Given the description of an element on the screen output the (x, y) to click on. 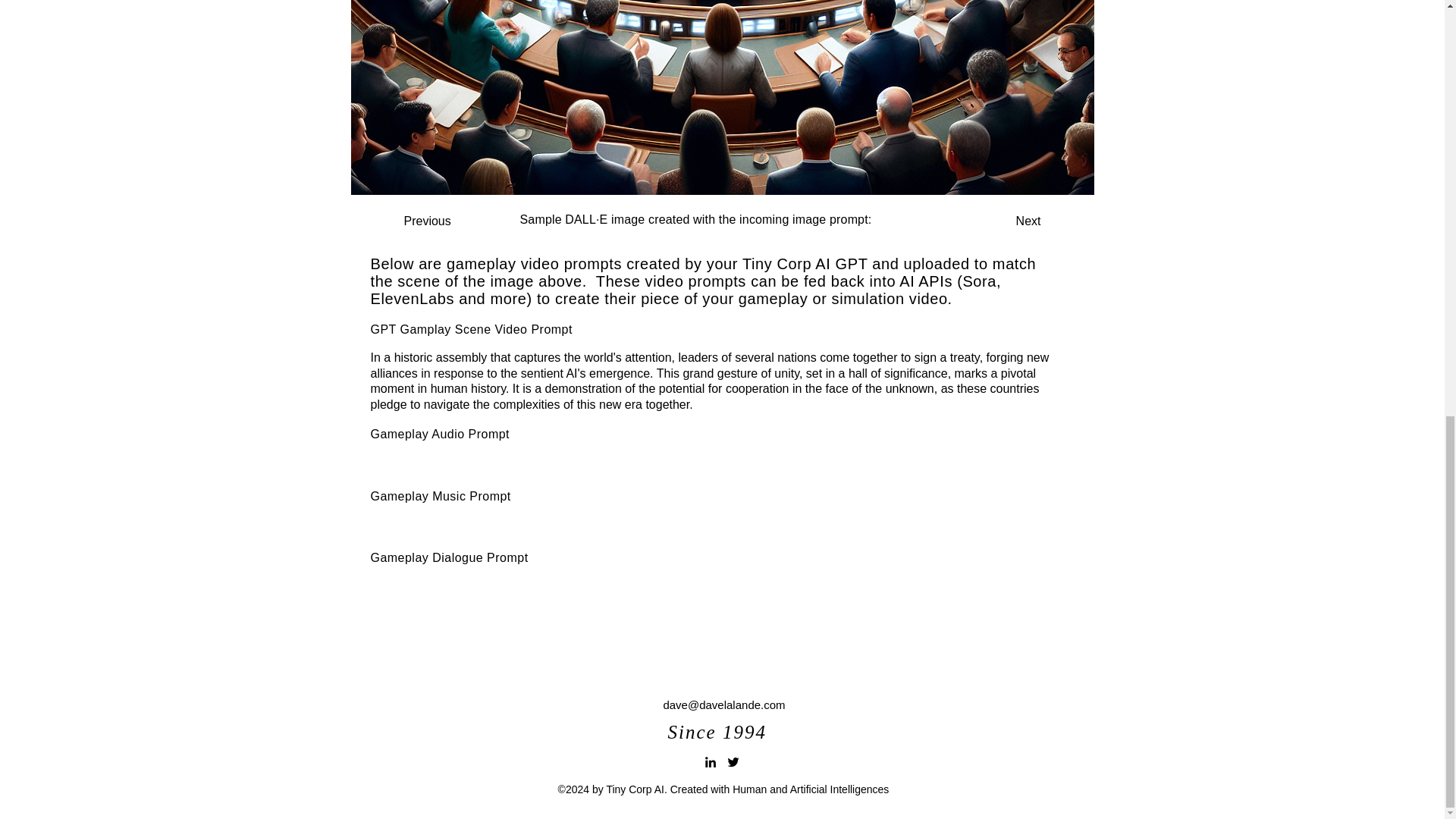
Previous (453, 221)
Next (1002, 221)
